Given the description of an element on the screen output the (x, y) to click on. 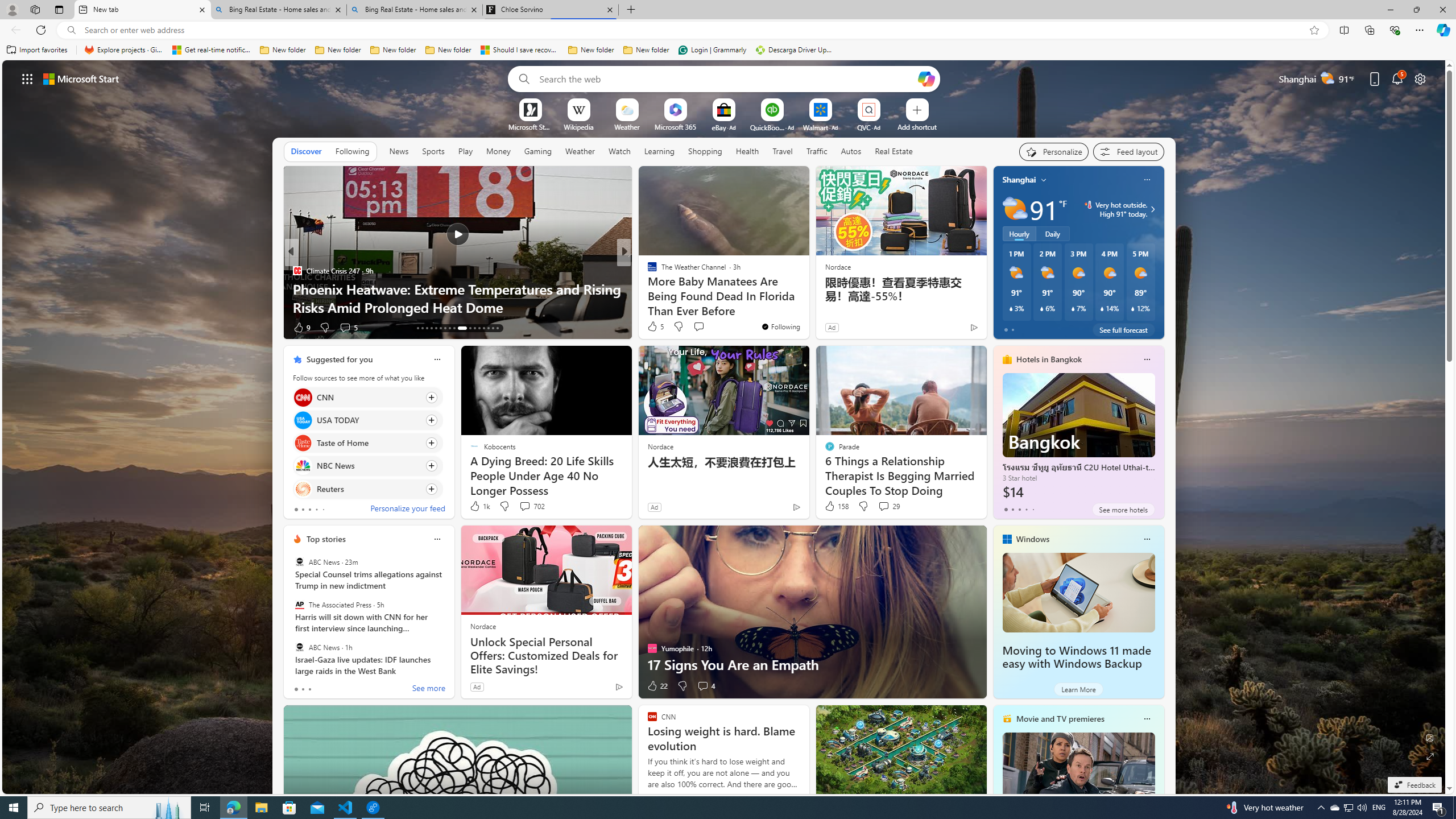
AutomationID: tab-25 (478, 328)
17 Like (652, 327)
View comments 42 Comment (6, 327)
5 Like (655, 326)
tab-4 (1032, 509)
AutomationID: tab-40 (488, 328)
Class: weather-arrow-glyph (1152, 208)
hotels-header-icon (1006, 358)
Moving to Windows 11 made easy with Windows Backup (1076, 657)
View comments 19 Comment (707, 327)
